Given the description of an element on the screen output the (x, y) to click on. 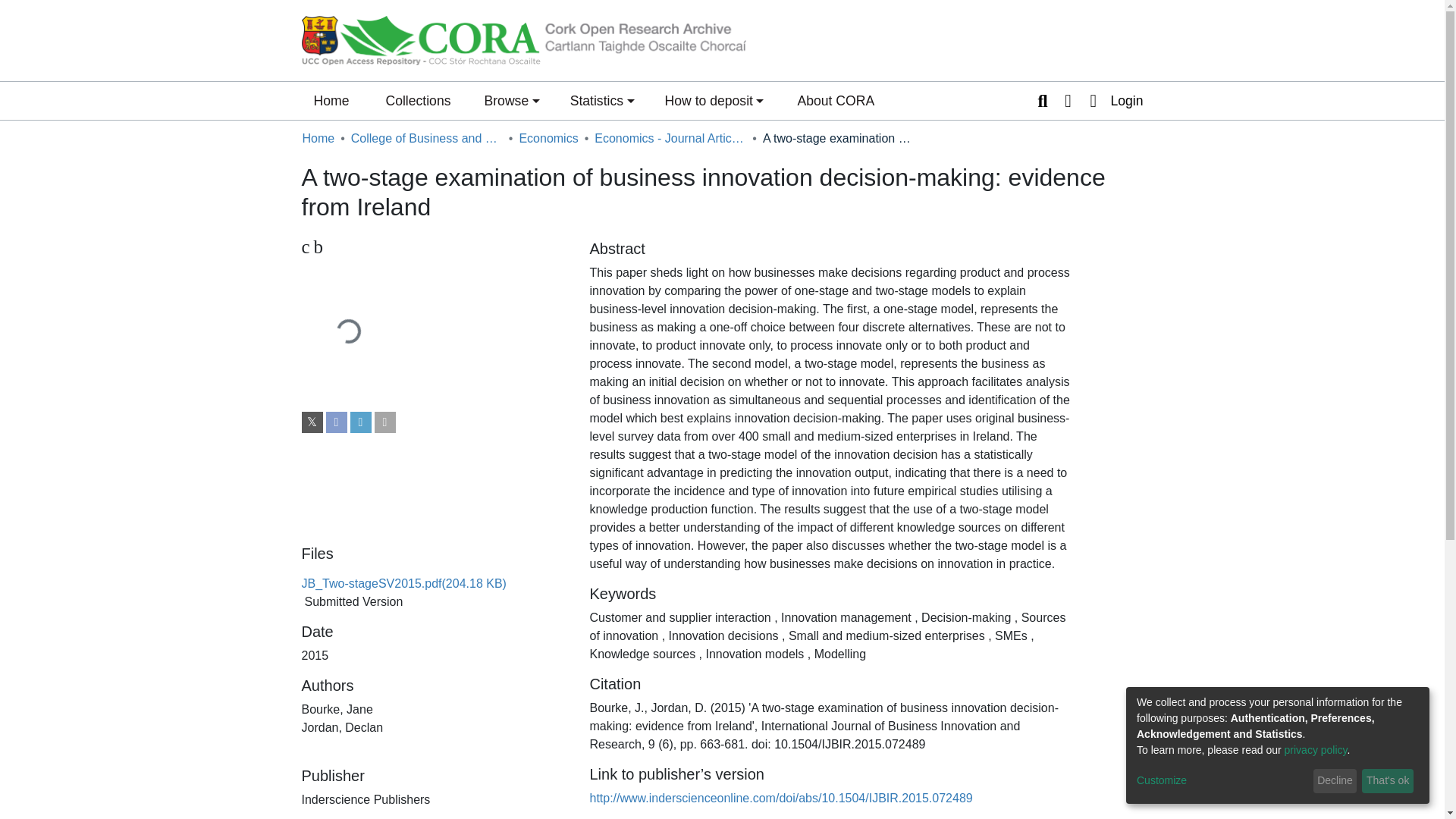
Economics (548, 138)
Collections (417, 100)
Home (331, 100)
About CORA (835, 100)
Collections (417, 100)
Customize (1222, 780)
How to deposit (714, 100)
Login (1111, 100)
Home (317, 138)
College of Business and Law (426, 138)
privacy policy (1316, 749)
About CORA (835, 100)
Statistics (602, 100)
Browse (510, 100)
